Given the description of an element on the screen output the (x, y) to click on. 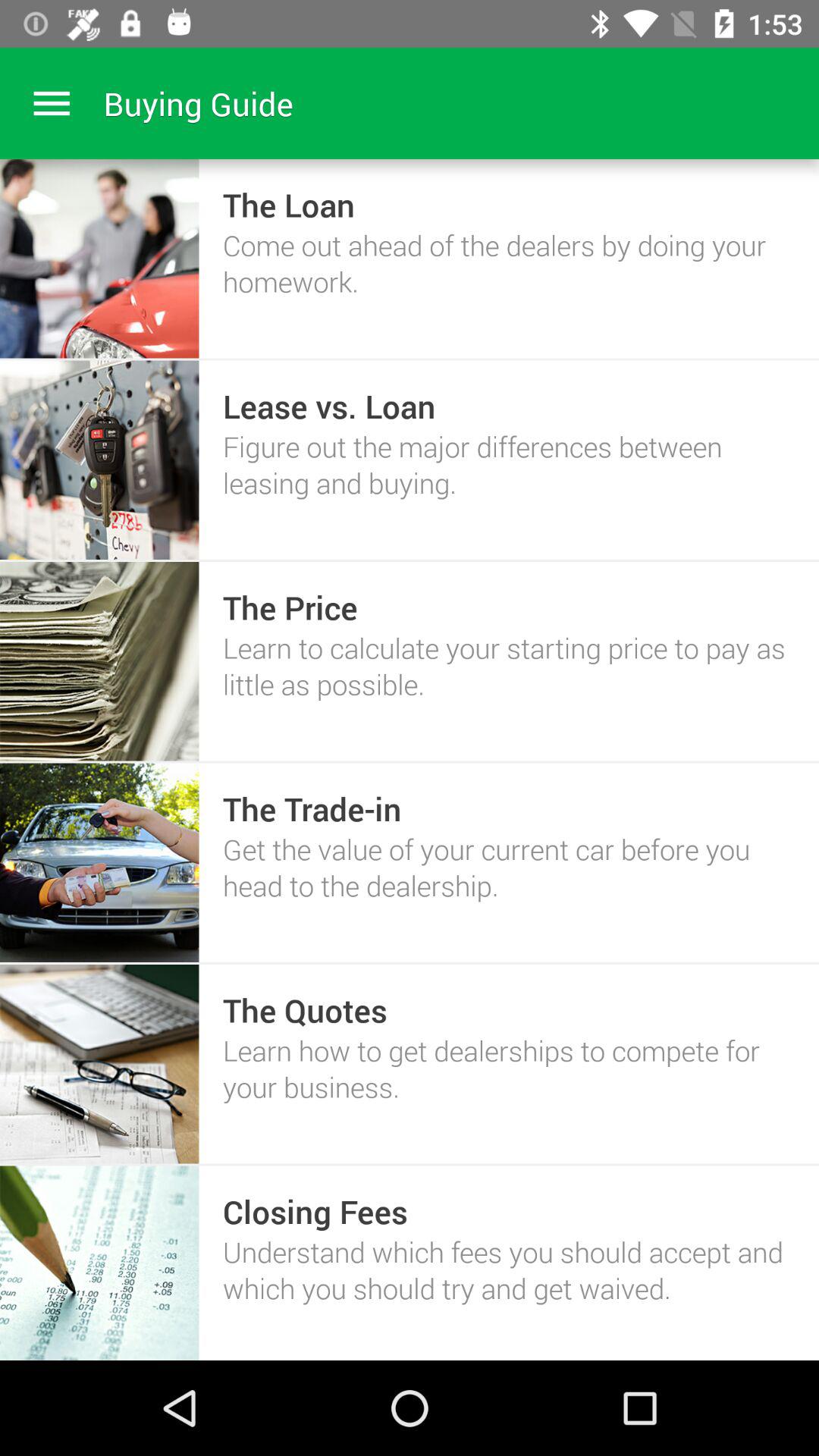
click closing fees item (314, 1211)
